Given the description of an element on the screen output the (x, y) to click on. 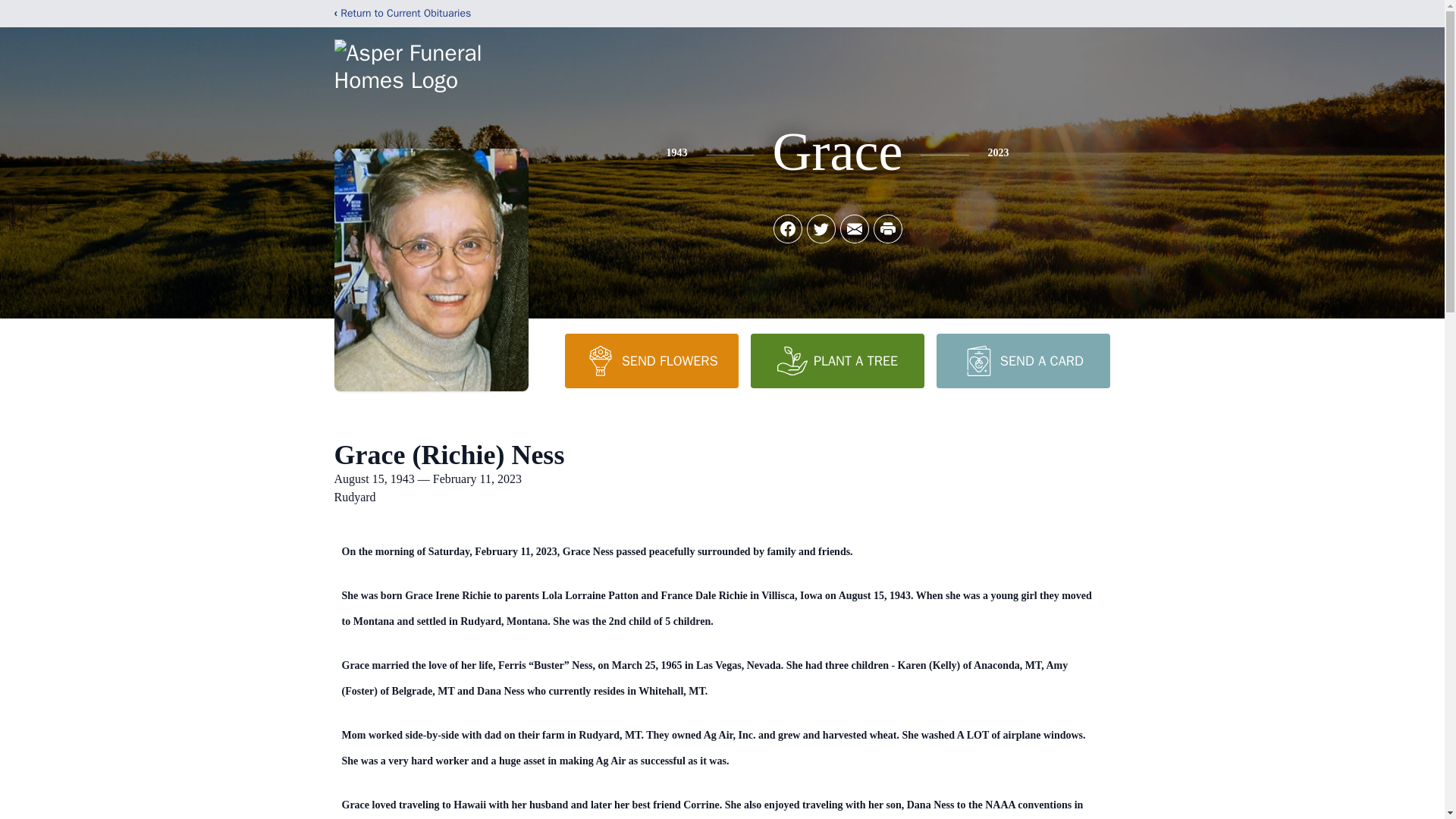
SEND FLOWERS (651, 360)
PLANT A TREE (837, 360)
SEND A CARD (1022, 360)
